Given the description of an element on the screen output the (x, y) to click on. 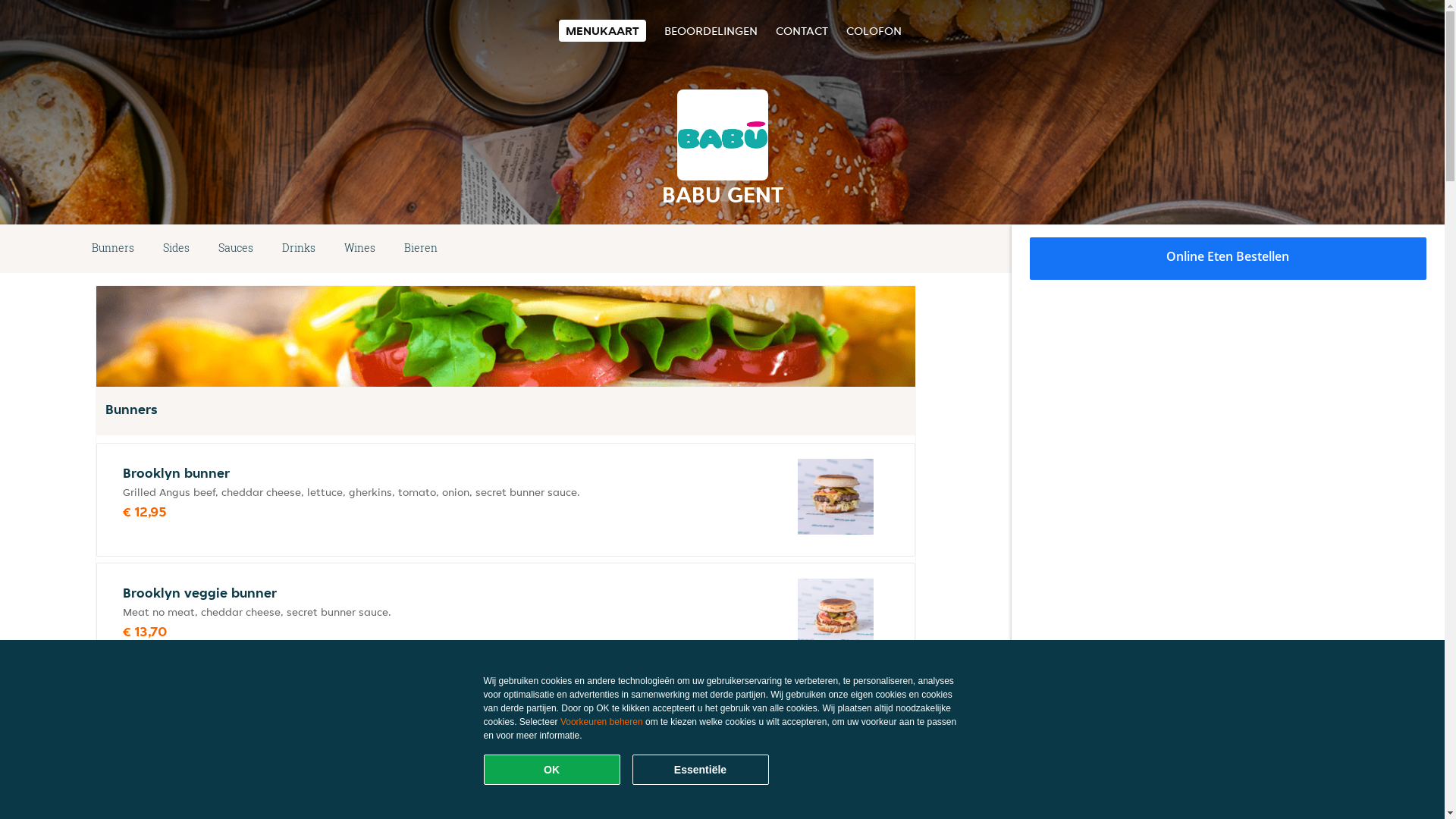
Sides Element type: text (175, 248)
Wines Element type: text (359, 248)
Voorkeuren beheren Element type: text (601, 721)
Drinks Element type: text (298, 248)
Online Eten Bestellen Element type: text (1228, 258)
Bieren Element type: text (420, 248)
COLOFON Element type: text (873, 30)
BEOORDELINGEN Element type: text (710, 30)
MENUKAART Element type: text (601, 30)
CONTACT Element type: text (801, 30)
Sauces Element type: text (235, 248)
OK Element type: text (551, 769)
Bunners Element type: text (112, 248)
